Given the description of an element on the screen output the (x, y) to click on. 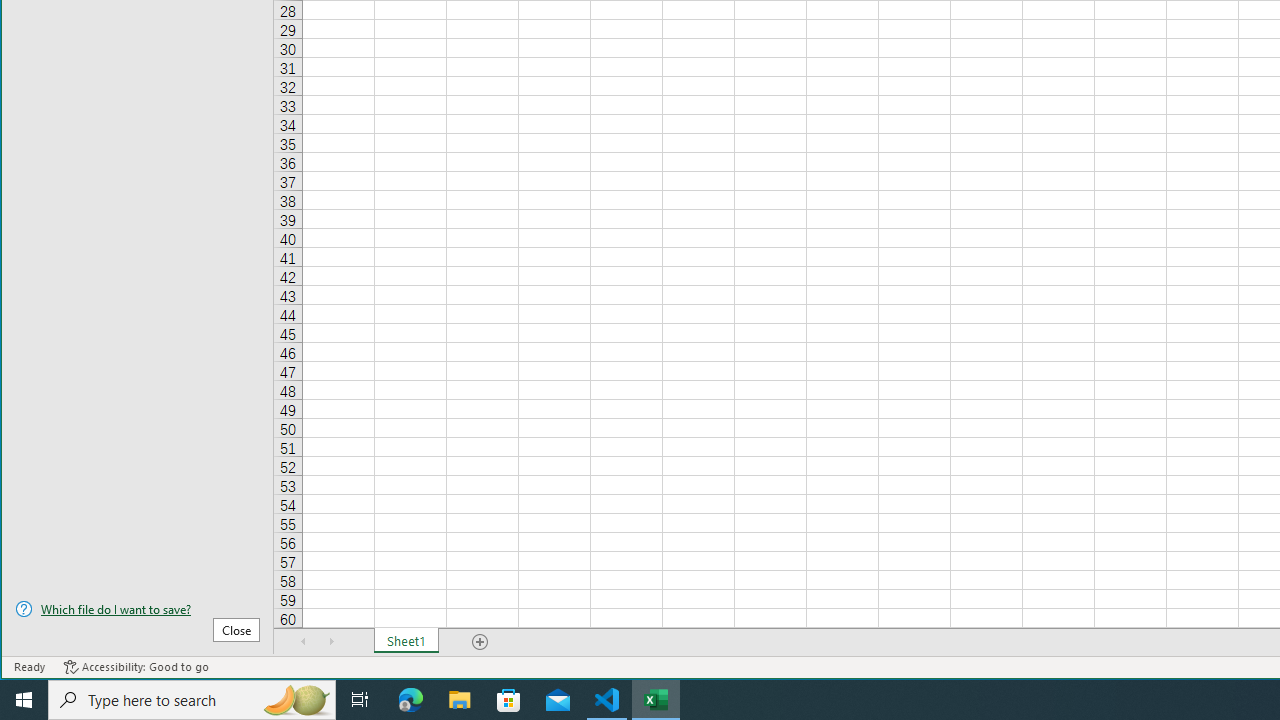
Microsoft Edge (411, 699)
